Given the description of an element on the screen output the (x, y) to click on. 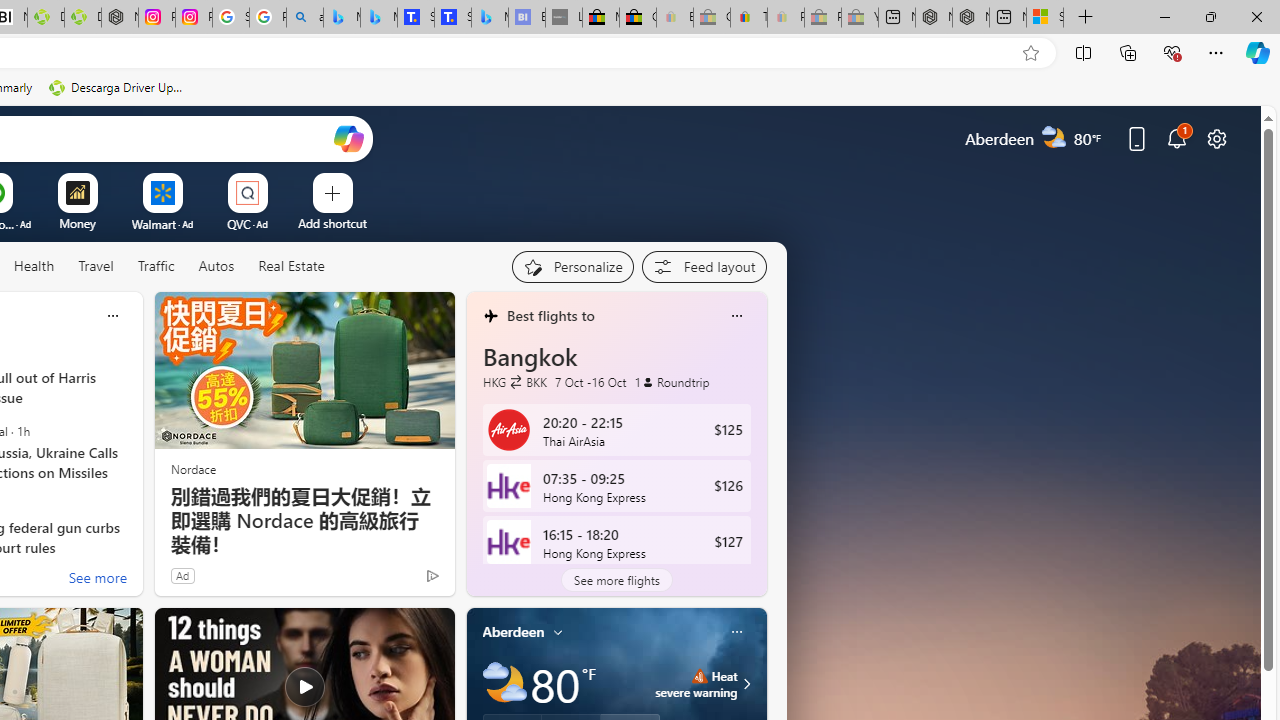
Threats and offensive language policy | eBay (748, 17)
Partly cloudy (504, 683)
Bangkok HKG BKK 7 Oct -16 Oct 1 Roundtrip (616, 365)
flights-header-icon (490, 316)
Press Room - eBay Inc. - Sleeping (822, 17)
